Given the description of an element on the screen output the (x, y) to click on. 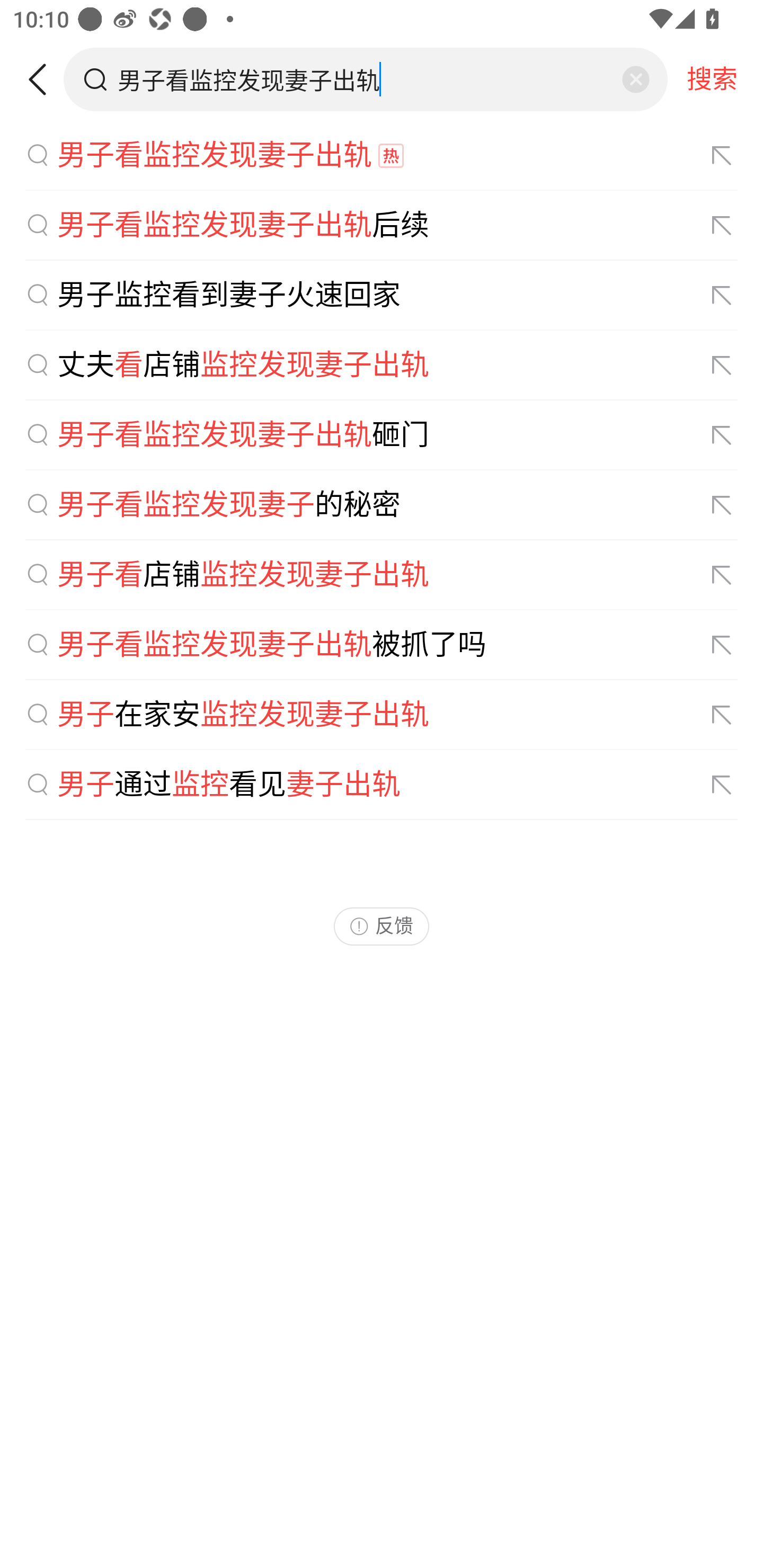
搜索框，男子看监控发现妻子出轨 (366, 79)
搜索 (711, 79)
返回 (44, 79)
清除 (635, 79)
男子看监控发现妻子出轨 填充搜索词男子看监控发现妻子出轨至搜索框 (381, 155)
填充搜索词男子看监控发现妻子出轨至搜索框 (721, 154)
男子看监控发现妻子出轨后续 填充搜索词男子看监控发现妻子出轨后续至搜索框 (381, 225)
填充搜索词男子看监控发现妻子出轨后续至搜索框 (721, 225)
男子监控看到妻子火速回家 填充搜索词男子监控看到妻子火速回家至搜索框 (381, 295)
填充搜索词男子监控看到妻子火速回家至搜索框 (721, 295)
丈夫看店铺监控发现妻子出轨 填充搜索词丈夫看店铺监控发现妻子出轨至搜索框 (381, 364)
填充搜索词丈夫看店铺监控发现妻子出轨至搜索框 (721, 365)
男子看监控发现妻子出轨砸门 填充搜索词男子看监控发现妻子出轨砸门至搜索框 (381, 434)
填充搜索词男子看监控发现妻子出轨砸门至搜索框 (721, 435)
男子看监控发现妻子的秘密 填充搜索词男子看监控发现妻子的秘密至搜索框 (381, 505)
填充搜索词男子看监控发现妻子的秘密至搜索框 (721, 504)
男子看店铺监控发现妻子出轨 填充搜索词男子看店铺监控发现妻子出轨至搜索框 (381, 574)
填充搜索词男子看店铺监控发现妻子出轨至搜索框 (721, 575)
男子看监控发现妻子出轨被抓了吗 填充搜索词男子看监控发现妻子出轨被抓了吗至搜索框 (381, 644)
填充搜索词男子看监控发现妻子出轨被抓了吗至搜索框 (721, 644)
男子在家安监控发现妻子出轨 填充搜索词男子在家安监控发现妻子出轨至搜索框 (381, 714)
填充搜索词男子在家安监控发现妻子出轨至搜索框 (721, 714)
男子通过监控看见妻子出轨 填充搜索词男子通过监控看见妻子出轨至搜索框 (381, 784)
填充搜索词男子通过监控看见妻子出轨至搜索框 (721, 785)
反馈 (381, 926)
